Given the description of an element on the screen output the (x, y) to click on. 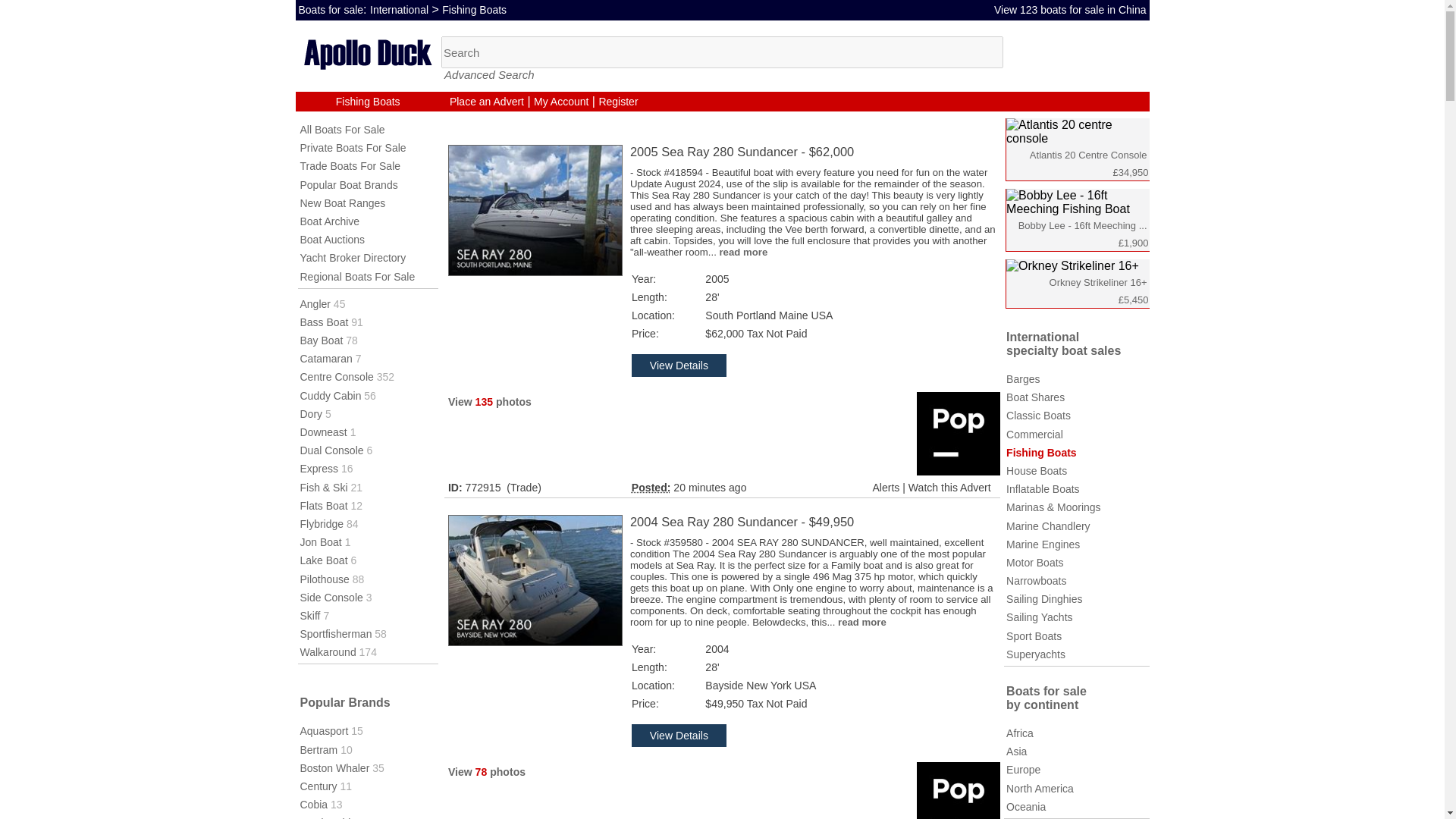
Advanced Search (489, 74)
Skiff (309, 615)
Centre Console (336, 377)
Place an Advert (486, 101)
Angler (314, 304)
Cuddy Cabin (330, 395)
Trade Boats For Sale (350, 165)
Flybridge (321, 523)
All Boats For Sale (342, 129)
Yacht Broker Directory (352, 257)
Bay Boat (321, 340)
Jon Boat (320, 541)
New Boat Ranges (342, 203)
Regional Boats For Sale (356, 275)
Side Console (330, 597)
